Given the description of an element on the screen output the (x, y) to click on. 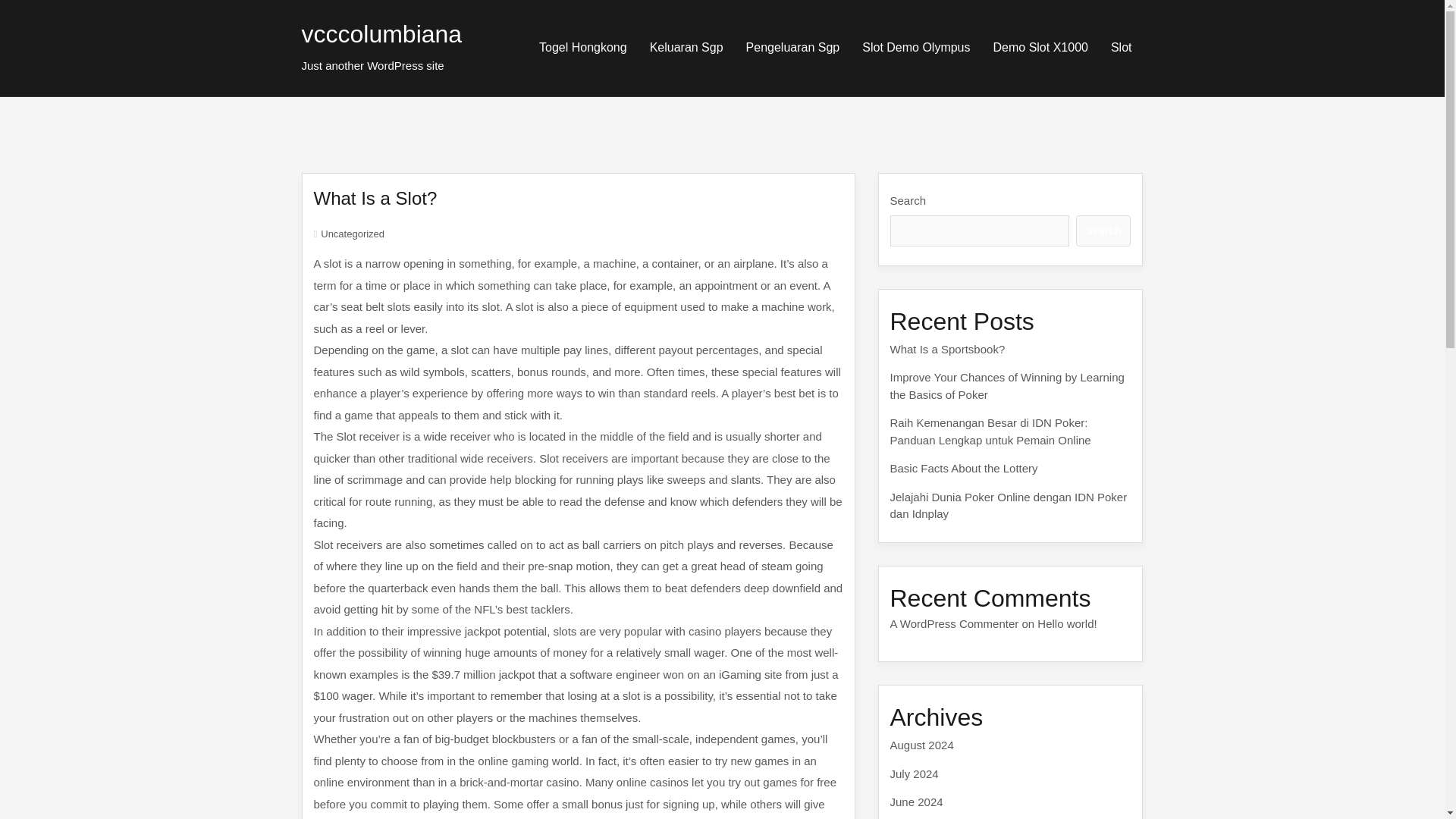
keluaran sgp (687, 47)
Slot (1120, 47)
A WordPress Commenter (954, 623)
Slot Demo Olympus (915, 47)
June 2024 (916, 801)
Pengeluaran Sgp (793, 47)
July 2024 (914, 773)
slot demo olympus (915, 47)
What Is a Slot? (376, 198)
